Given the description of an element on the screen output the (x, y) to click on. 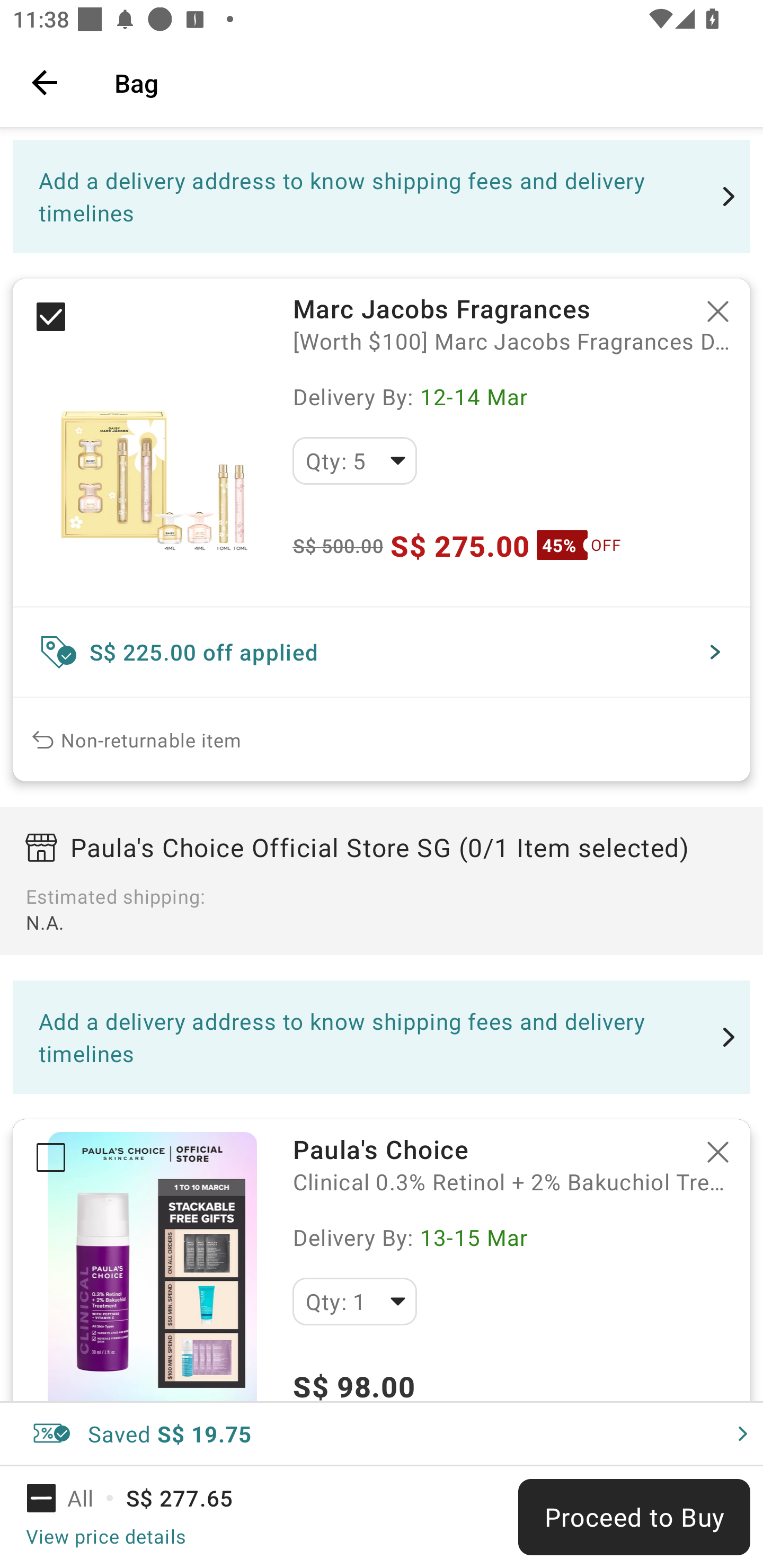
Navigate up (44, 82)
Bag (426, 82)
Qty: 5 (354, 460)
S$ 225.00 off applied (381, 652)
Qty: 1 (354, 1300)
Saved S$ 19.75 (381, 1433)
All (72, 1497)
Proceed to Buy (634, 1516)
View price details (105, 1535)
